Given the description of an element on the screen output the (x, y) to click on. 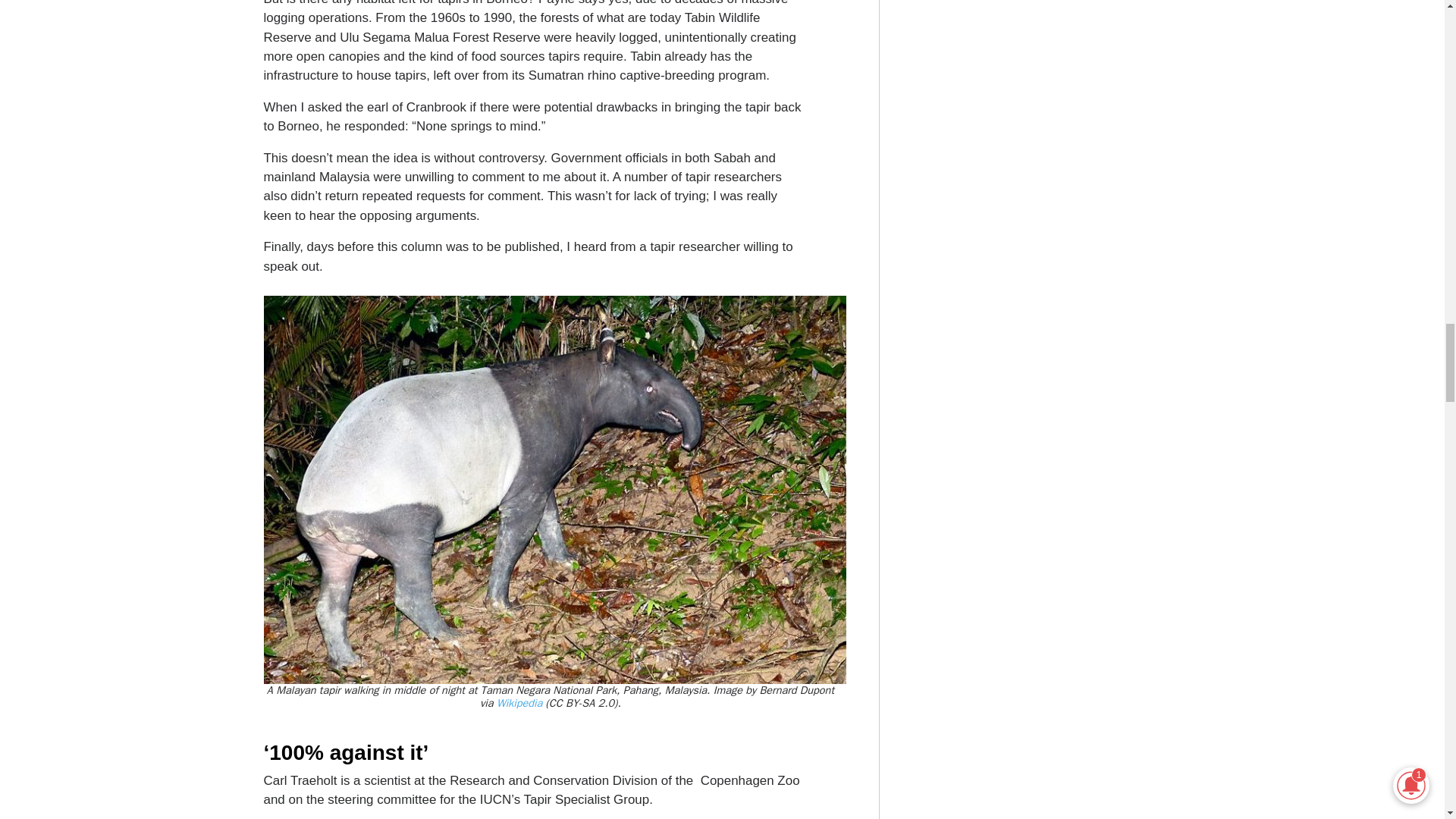
Wikipedia (518, 703)
